Given the description of an element on the screen output the (x, y) to click on. 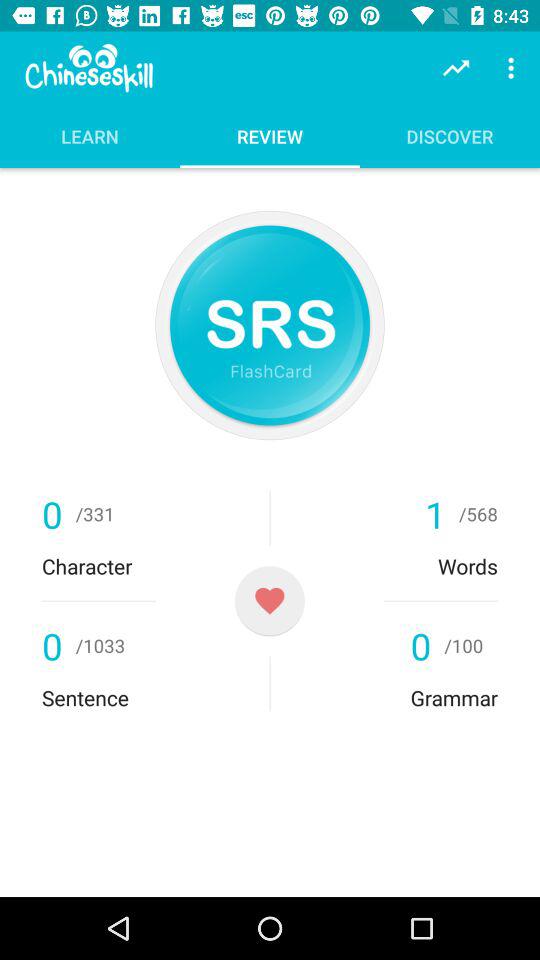
click item above the discover (513, 67)
